Given the description of an element on the screen output the (x, y) to click on. 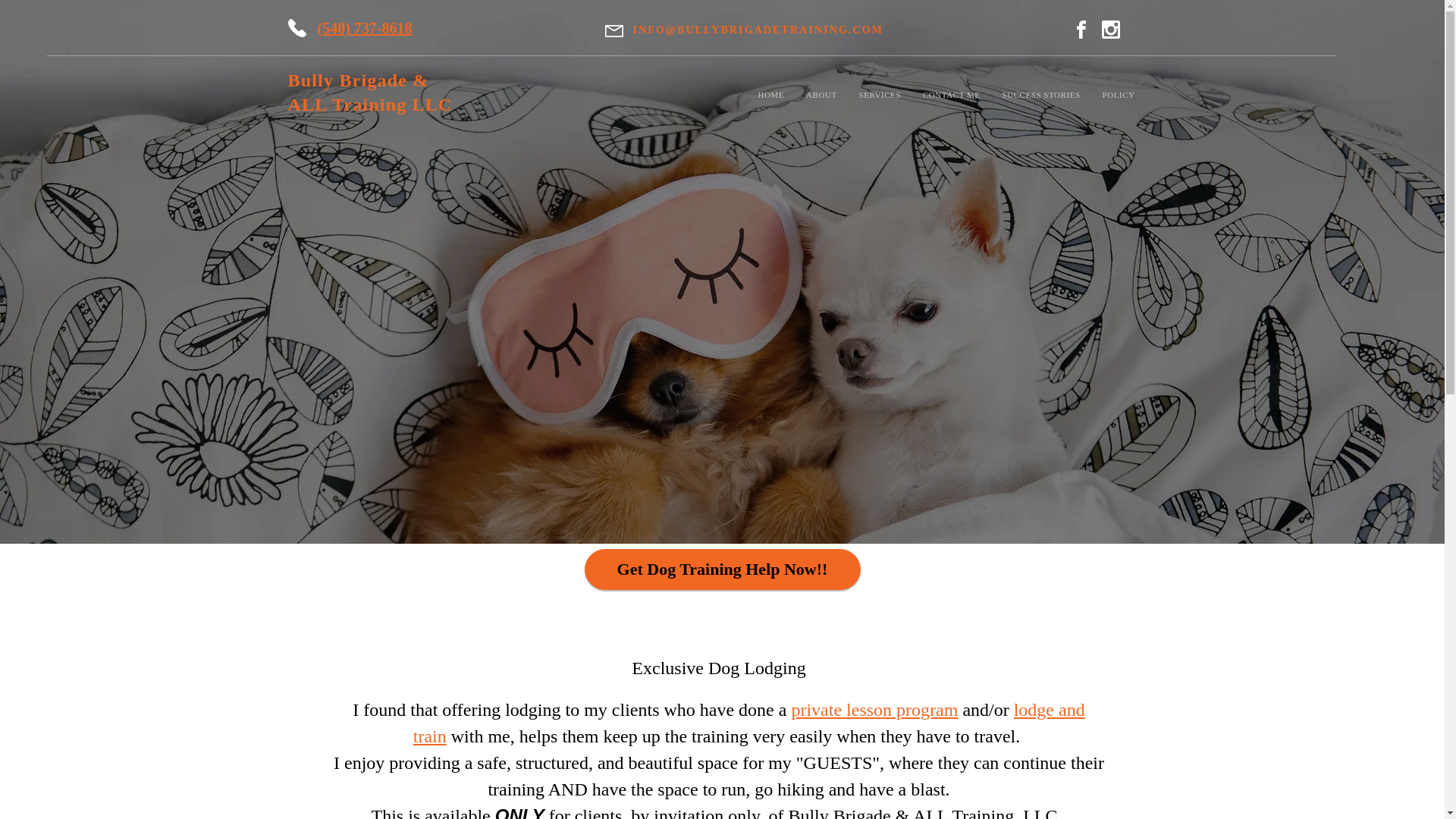
HOME (776, 94)
ABOUT (826, 94)
POLICY (1124, 94)
CONTACT ME (957, 94)
lodge and train (748, 723)
private lesson program (874, 709)
Get Dog Training Help Now!! (721, 568)
SERVICES (885, 94)
SUCCESS STORIES (1047, 94)
